Given the description of an element on the screen output the (x, y) to click on. 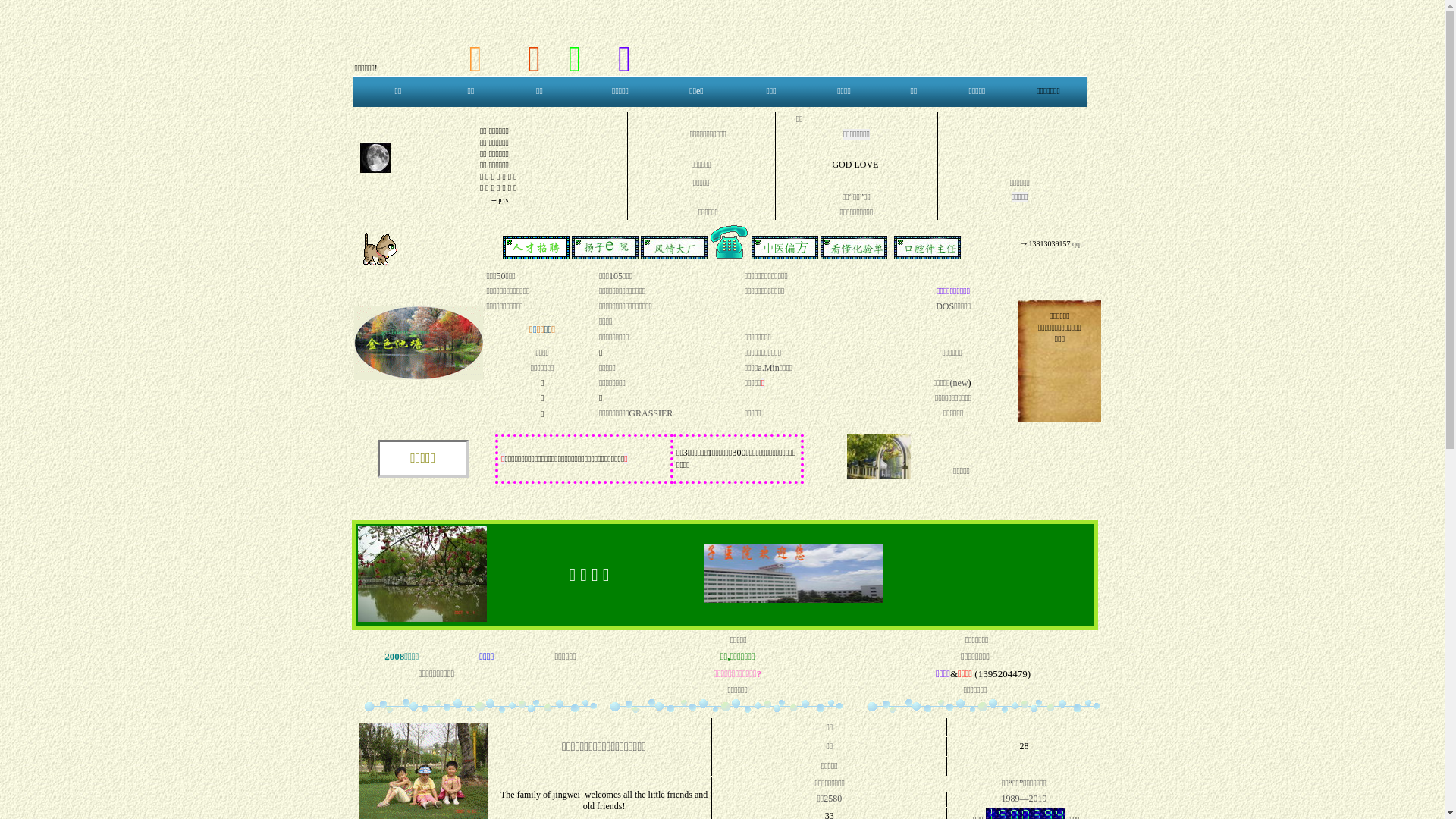
 qq Element type: text (1075, 243)
